Given the description of an element on the screen output the (x, y) to click on. 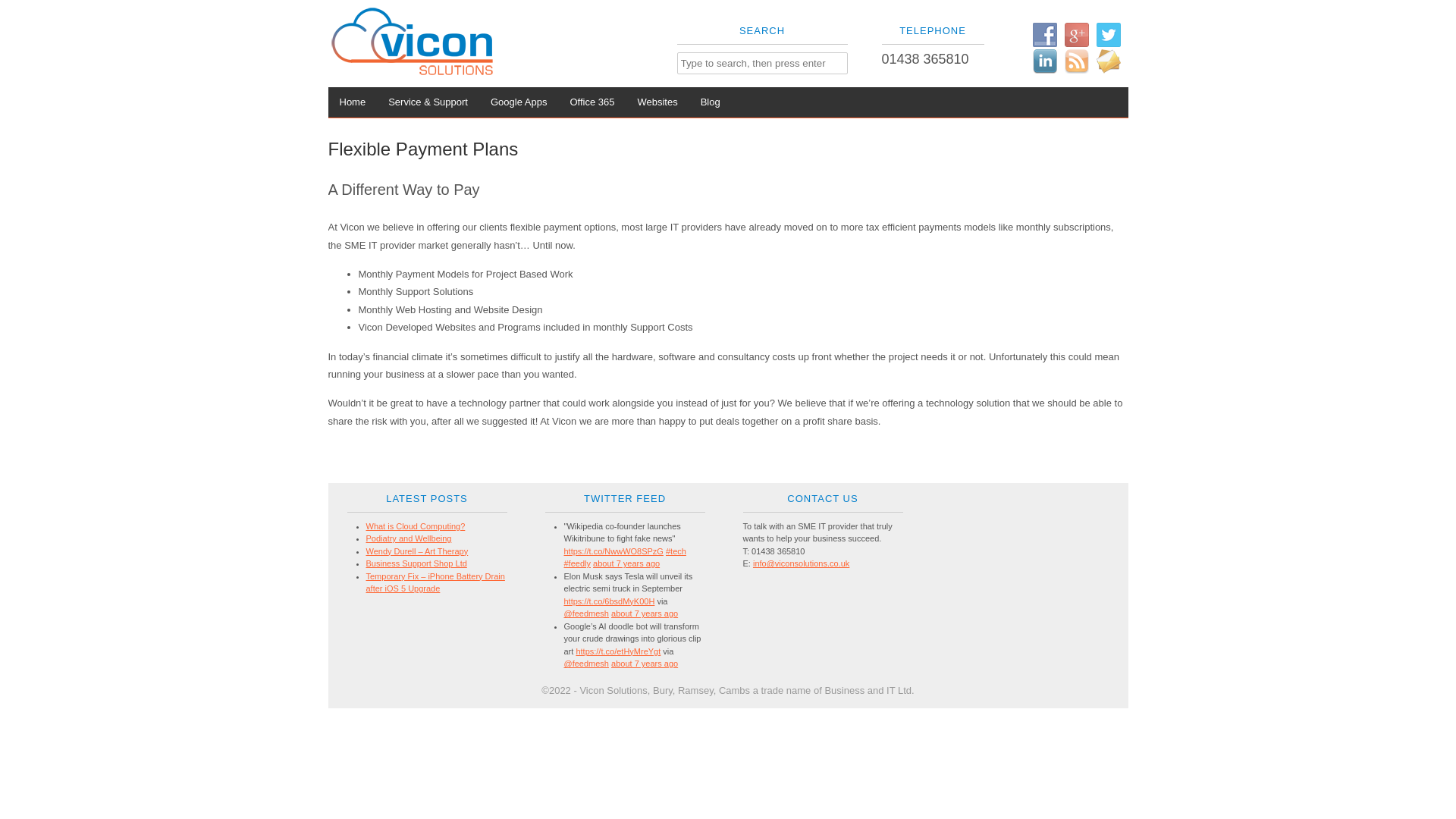
 LinkedIn (1044, 61)
Websites (657, 101)
about 7 years ago (644, 613)
Home (352, 101)
 E-mail (1108, 61)
Podiatry and Wellbeing (408, 537)
Search (23, 10)
 Facebook (1044, 34)
 Twitter (1108, 34)
about 7 years ago (625, 563)
Blog (710, 101)
 RSS (1076, 61)
Type to search, then press enter (762, 62)
Business Support Shop Ltd (415, 563)
about 7 years ago (644, 663)
